Given the description of an element on the screen output the (x, y) to click on. 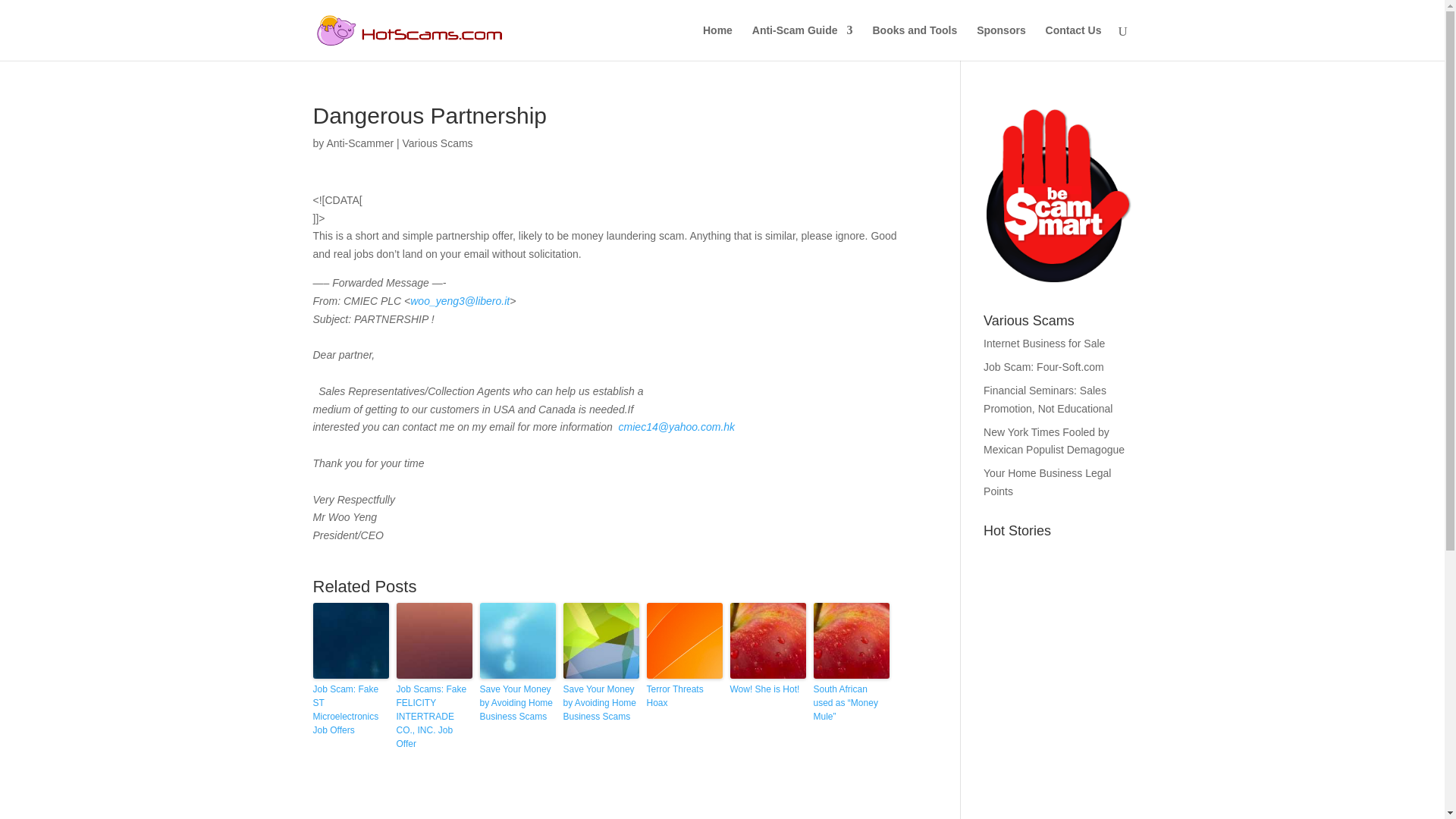
Internet Business for Sale (1044, 343)
Financial Seminars: Sales Promotion, Not Educational (1048, 399)
Job Scam: Four-Soft.com (1043, 367)
Internet Business for Sale (1044, 343)
Books and Tools (914, 42)
Your Home Business Legal Points (1047, 481)
Anti-Scammer (359, 143)
Home (717, 42)
Financial Seminars: Sales Promotion, Not Educational (1048, 399)
Wow! She is Hot! (767, 689)
Various Scams (438, 143)
Anti-Scam Guide (802, 42)
Job Scam: Fake ST Microelectronics Job Offers (350, 709)
Job Scam: Four-Soft.com (1043, 367)
Sponsors (1001, 42)
